Given the description of an element on the screen output the (x, y) to click on. 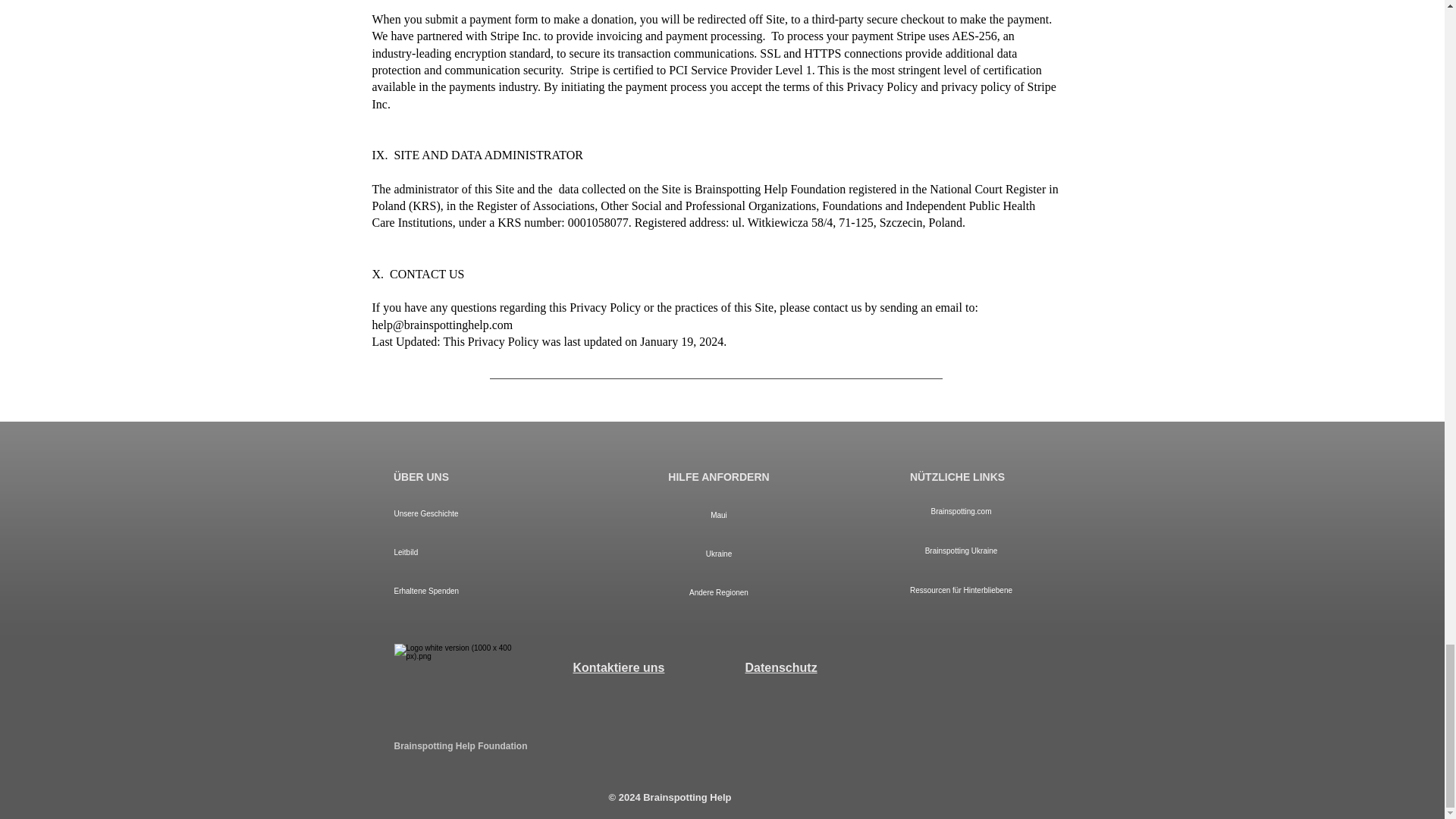
Leitbild (480, 552)
Maui (719, 515)
Brainspotting.com (960, 511)
Ukraine (719, 553)
Erhaltene Spenden (480, 590)
Unsere Geschichte (480, 513)
Kontaktiere uns (619, 667)
Brainspotting Ukraine (960, 550)
Andere Regionen (719, 592)
Datenschutz (780, 667)
